Given the description of an element on the screen output the (x, y) to click on. 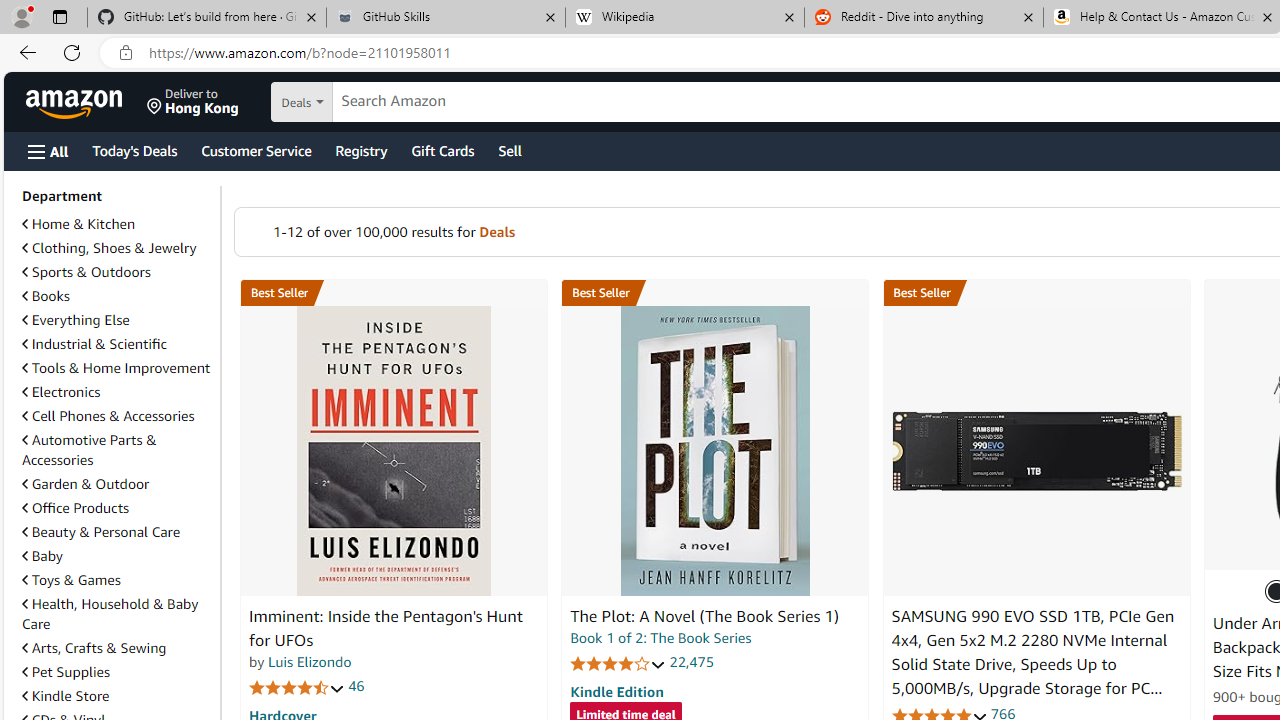
Industrial & Scientific (117, 344)
Tools & Home Improvement (116, 368)
Toys & Games (117, 579)
Books (45, 296)
Electronics (61, 392)
Electronics (117, 391)
Best Seller in Internal Solid State Drives (1036, 293)
Industrial & Scientific (94, 343)
Health, Household & Baby Care (109, 613)
GitHub Skills (445, 17)
Everything Else (117, 319)
